Given the description of an element on the screen output the (x, y) to click on. 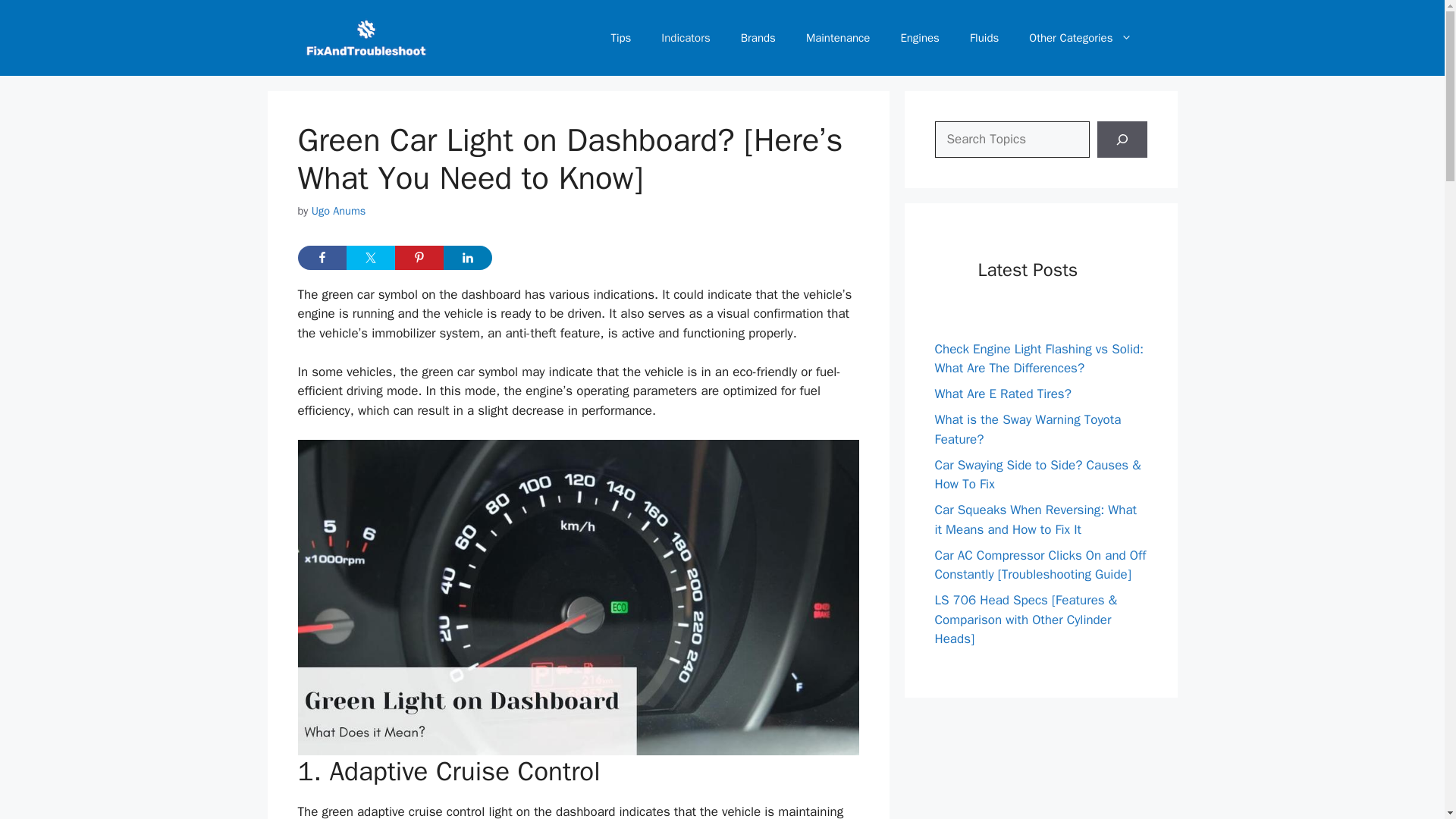
Engines (920, 37)
Tips (620, 37)
Share on Pinterest (418, 257)
Ugo Anums (338, 210)
Fluids (984, 37)
Share on Facebook (321, 257)
View all posts by Ugo Anums (338, 210)
Maintenance (837, 37)
What is the Sway Warning Toyota Feature? (1027, 429)
Indicators (685, 37)
Brands (757, 37)
Other Categories (1080, 37)
Share on Twitter (370, 257)
Share on LinkedIn (467, 257)
